Given the description of an element on the screen output the (x, y) to click on. 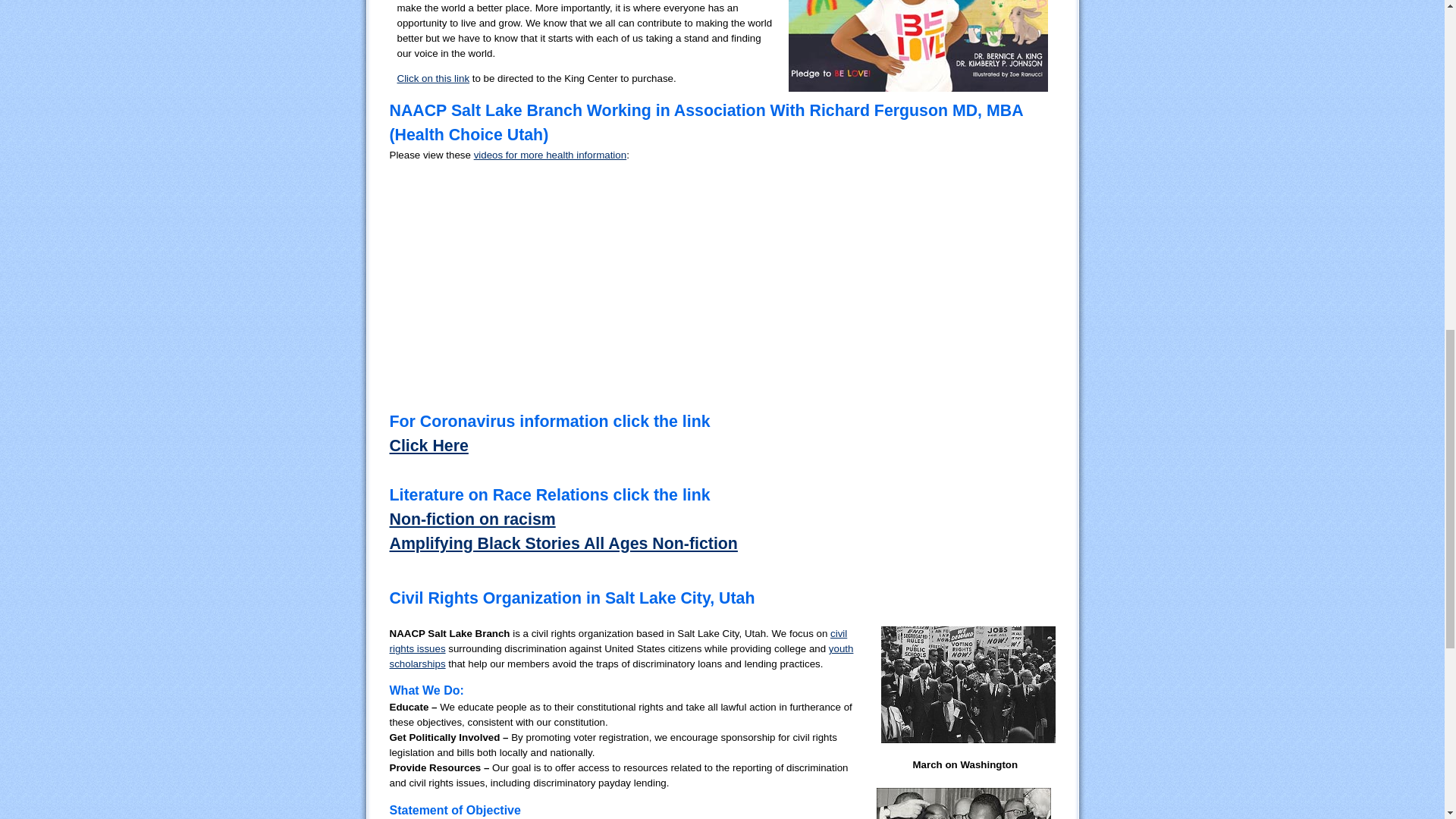
civil rights issues (618, 641)
Click on this link (433, 78)
Click Here (429, 445)
youth scholarships (621, 655)
videos for more health information (550, 154)
YouTube video player (555, 227)
YouTube video player (723, 350)
YouTube video player (887, 227)
Non-fiction on racism (473, 519)
Amplifying Black Stories All Ages Non-fiction (564, 543)
